Given the description of an element on the screen output the (x, y) to click on. 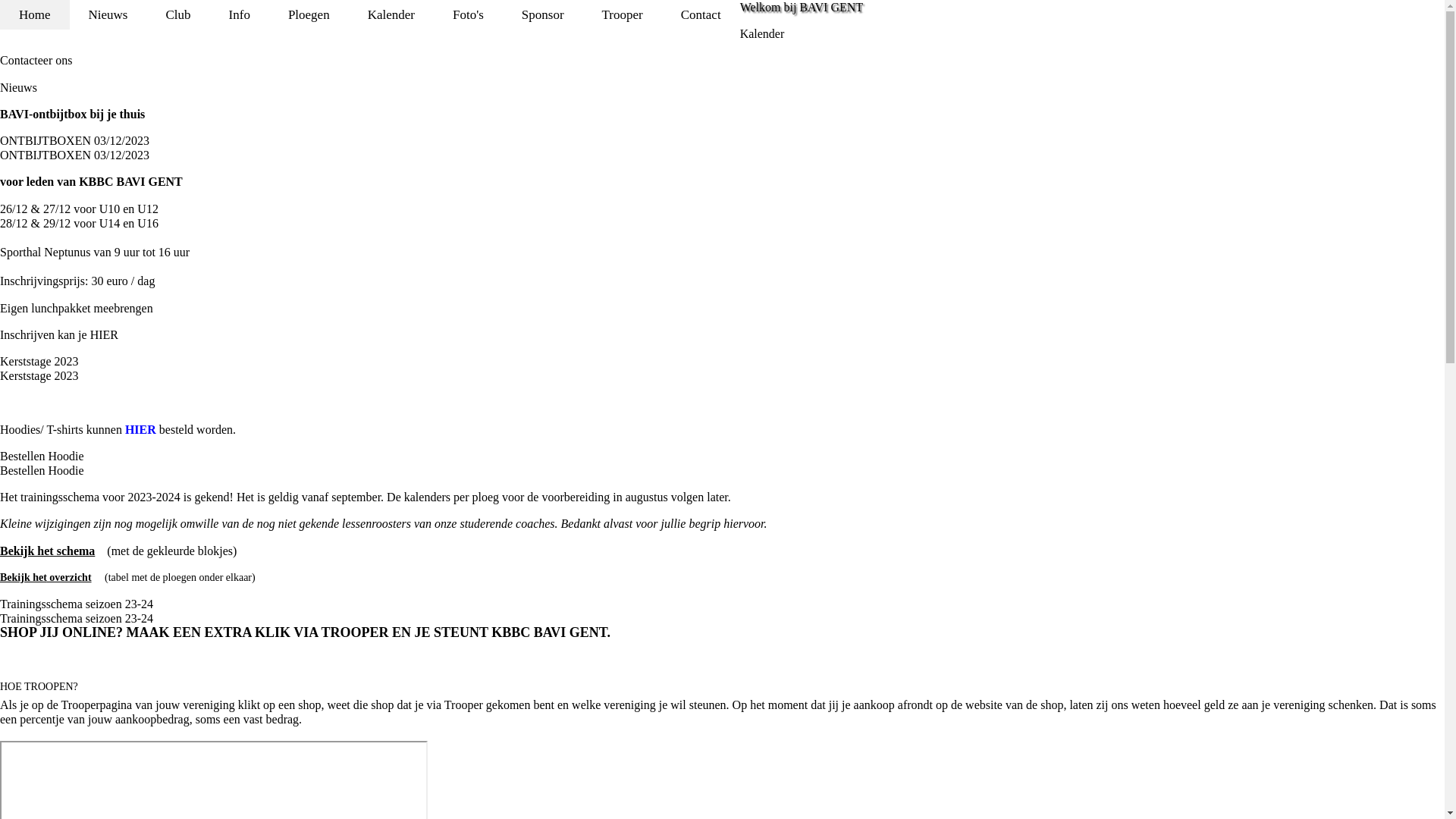
HIER Element type: text (140, 429)
ONTBIJTBOXEN 03/12/2023 Element type: text (74, 154)
Trooperpagina Element type: text (96, 704)
Foto's Element type: text (467, 14)
Trainingsschema seizoen 23-24 Element type: text (76, 603)
Kerststage 2023 Element type: text (39, 375)
Contact Element type: text (700, 14)
Contacteer ons Element type: text (36, 59)
Kalender Element type: text (390, 14)
Home Element type: text (34, 14)
vereniging Element type: text (208, 704)
Trooper Element type: text (622, 14)
Nieuws Element type: text (108, 14)
Bekijk het Element type: text (23, 577)
overzicht Element type: text (69, 577)
Bestellen Hoodie Element type: text (42, 455)
Bekijk het schema Element type: text (47, 550)
Ploegen Element type: text (308, 14)
HIER Element type: text (104, 334)
Kalender Element type: text (762, 33)
Bestellen Hoodie Element type: text (42, 470)
ONTBIJTBOXEN 03/12/2023 Element type: text (74, 140)
Trainingsschema seizoen 23-24 Element type: text (76, 617)
Sponsor Element type: text (542, 14)
Kerststage 2023 Element type: text (39, 360)
